Given the description of an element on the screen output the (x, y) to click on. 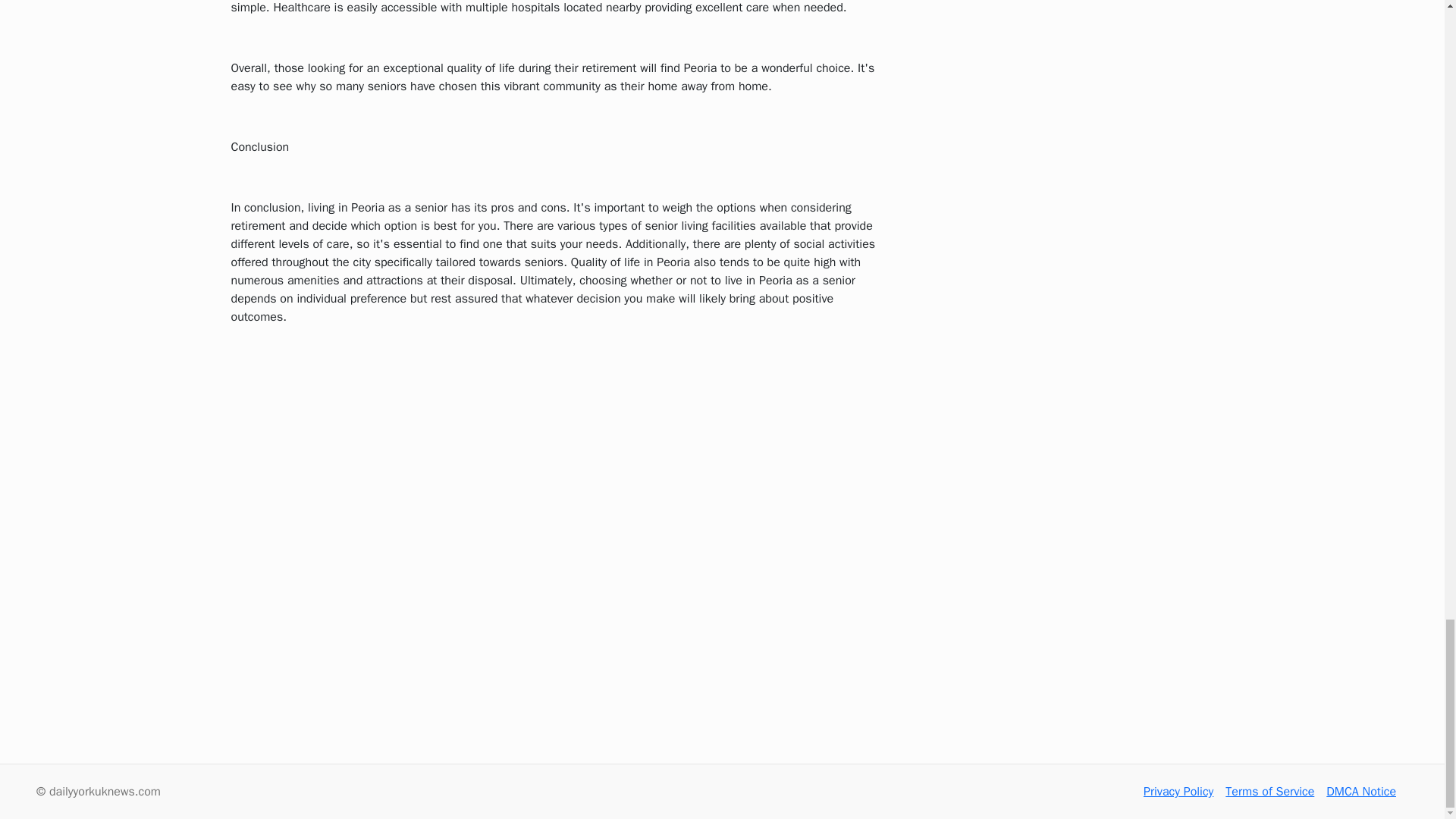
DMCA Notice (1361, 791)
Privacy Policy (1177, 791)
Terms of Service (1269, 791)
